Given the description of an element on the screen output the (x, y) to click on. 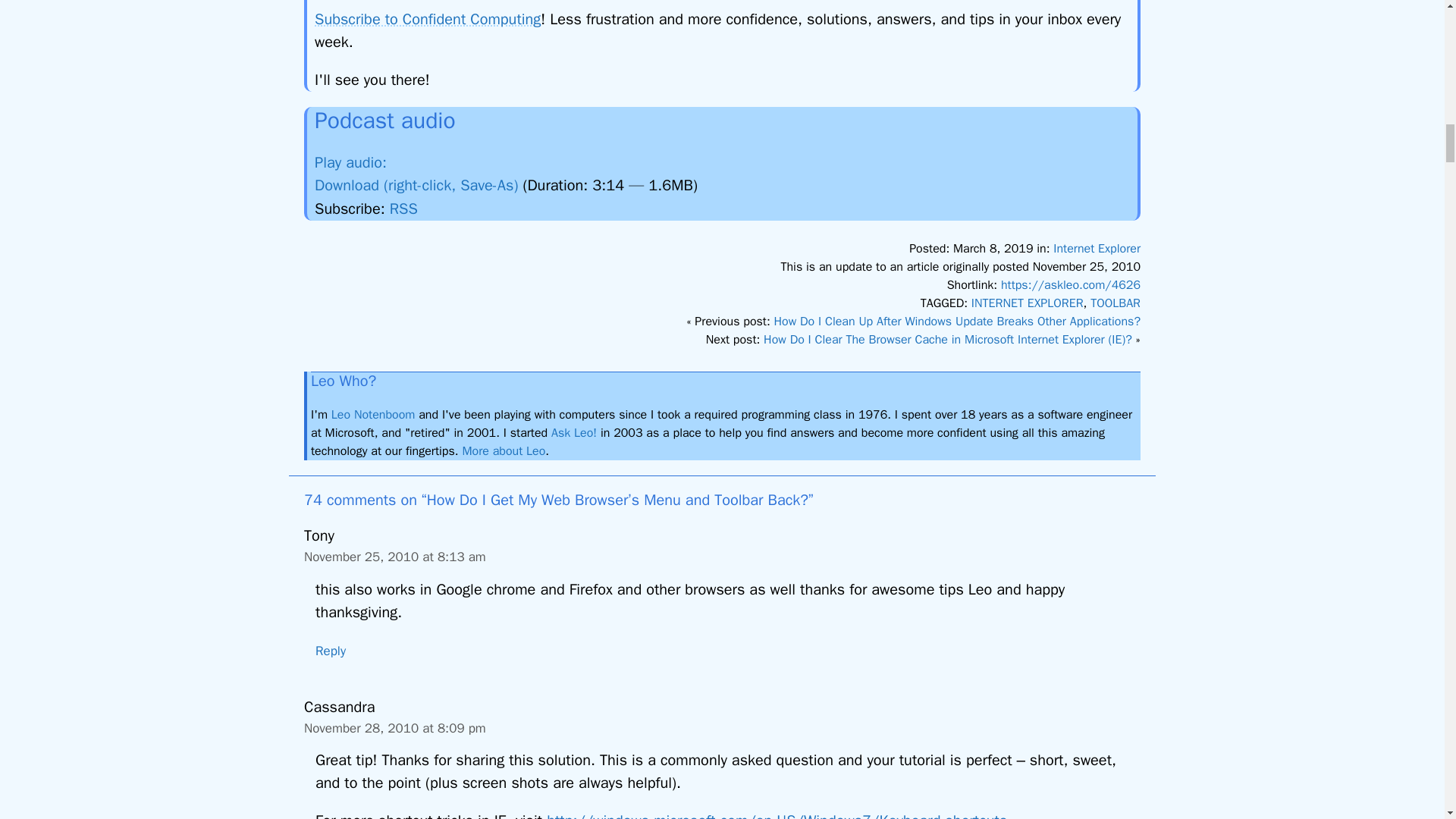
TOOLBAR (1115, 303)
INTERNET EXPLORER (1027, 303)
Play (361, 162)
Subscribe to Confident Computing (427, 18)
November 25, 2010 at 8:13 am (395, 556)
November 28, 2010 at 8:09 pm (395, 728)
Ask Leo! (573, 432)
RSS (403, 208)
Subscribe via RSS (403, 208)
Leo Notenboom (372, 414)
Play (400, 158)
Internet Explorer (1096, 248)
Reply (330, 650)
More about Leo (502, 450)
